Given the description of an element on the screen output the (x, y) to click on. 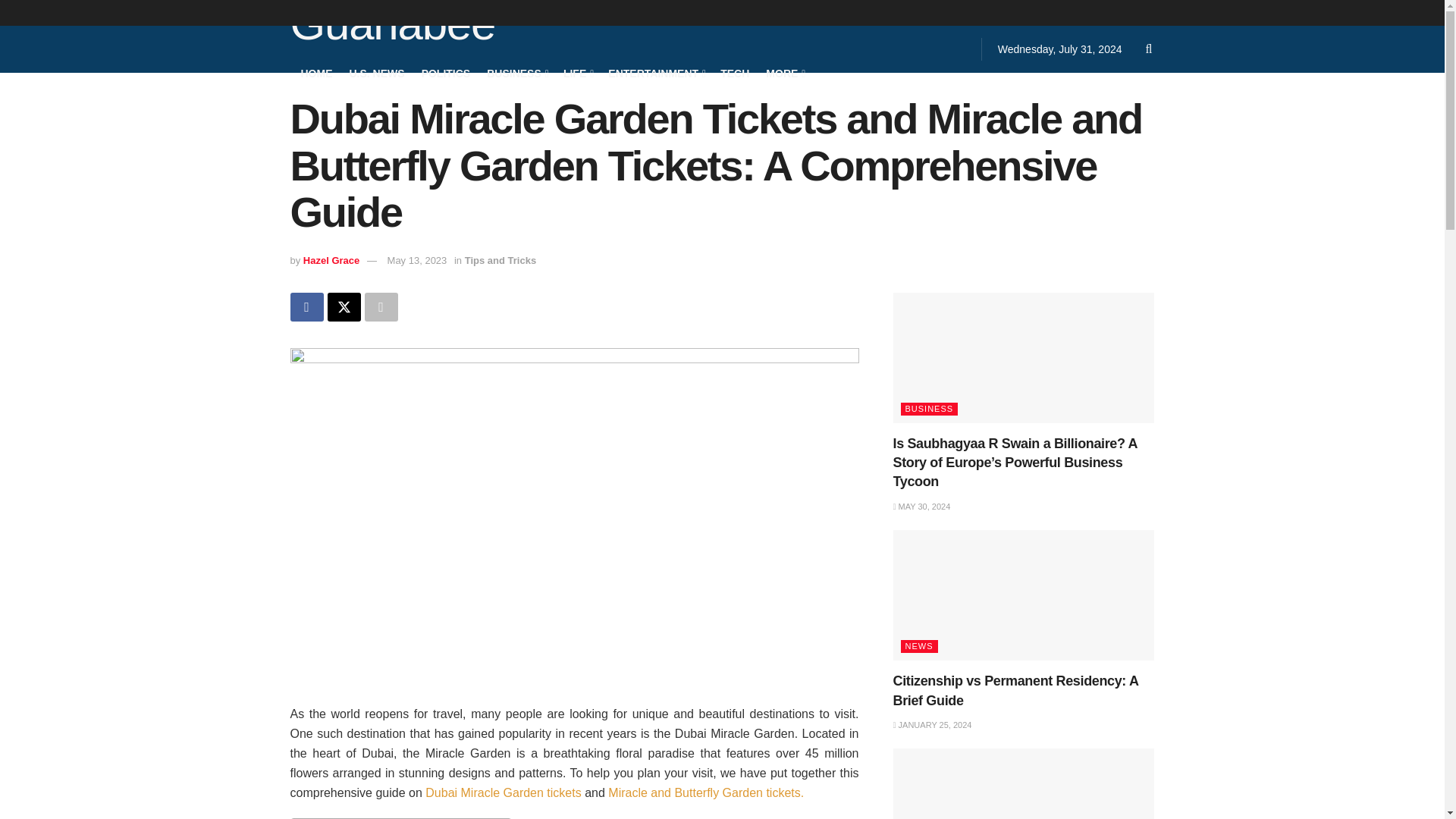
Guanabee (392, 25)
Miracle and Butterfly Garden tickets. (705, 792)
POLITICS (446, 73)
U.S. NEWS (376, 73)
Tips and Tricks (499, 260)
BUSINESS (516, 73)
ENTERTAINMENT (655, 73)
Hazel Grace (330, 260)
May 13, 2023 (416, 260)
Dubai Miracle Garden tickets (502, 792)
